Given the description of an element on the screen output the (x, y) to click on. 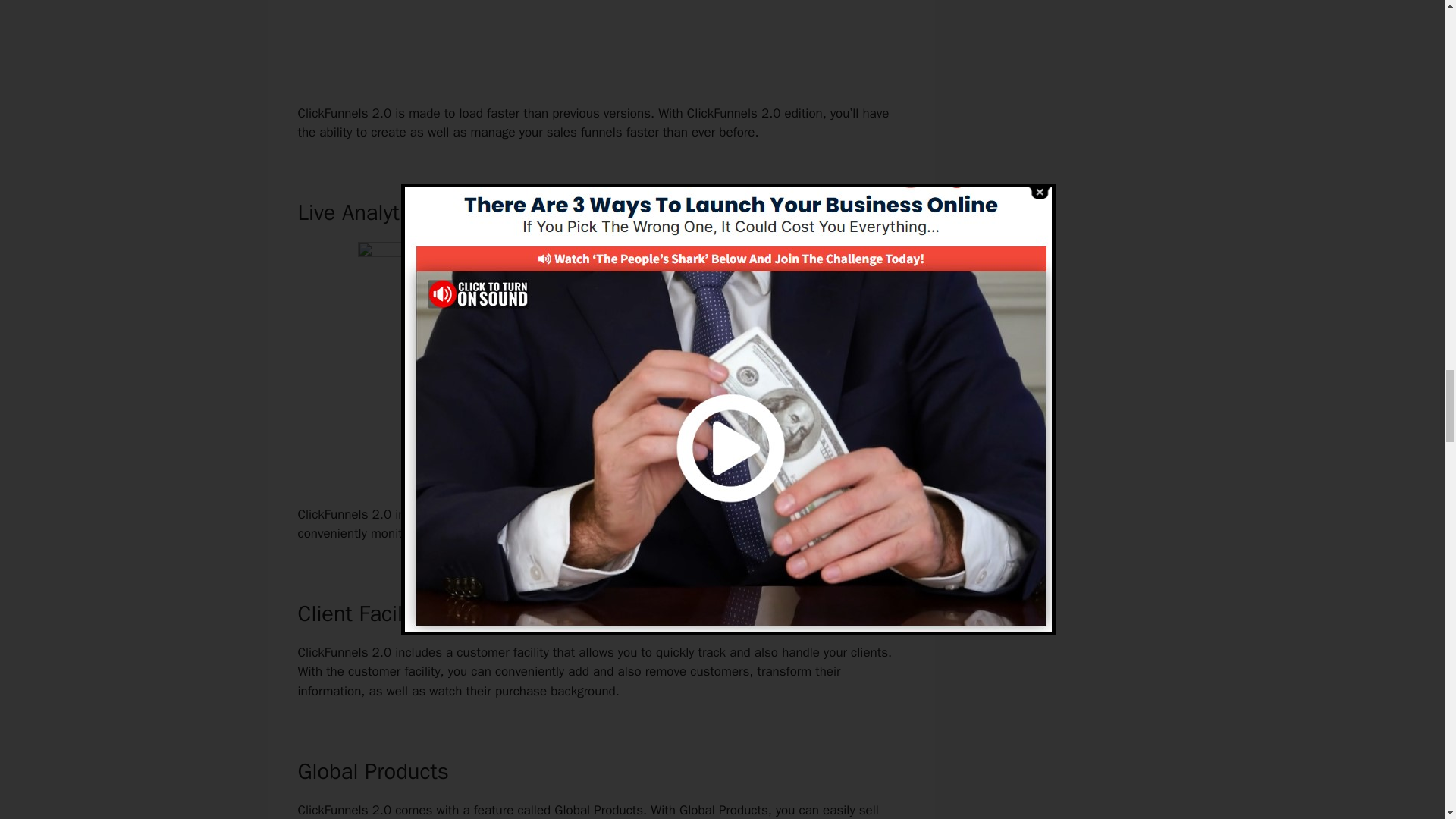
Stats (724, 514)
